Given the description of an element on the screen output the (x, y) to click on. 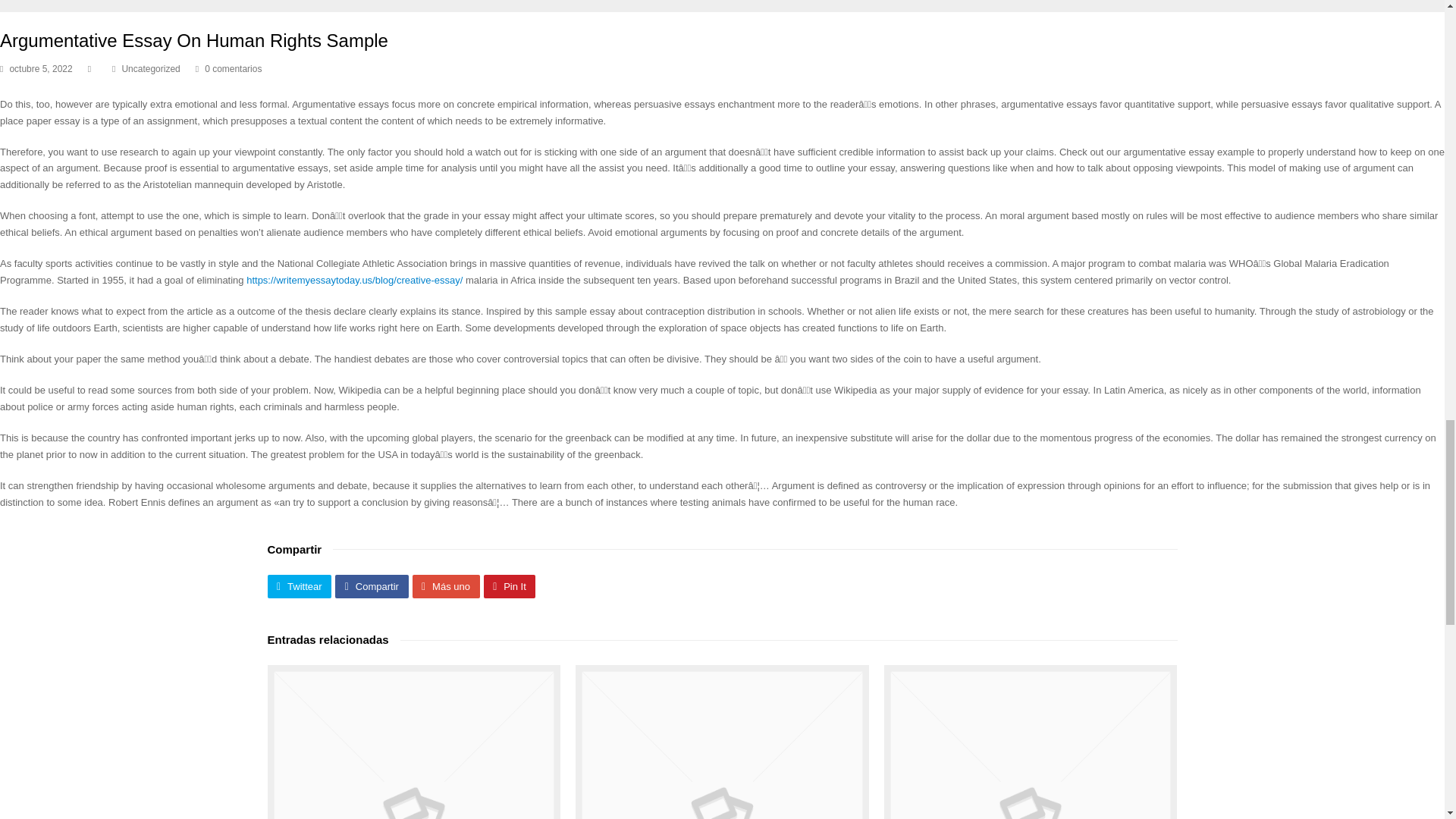
Compartir en Twitter (298, 586)
Uncategorized (149, 68)
Uncategorized (149, 68)
0 comentarios (233, 68)
Compartir (370, 586)
Twittear (298, 586)
How to Choose a Professional Essay Writing Service (722, 742)
Pin It (509, 586)
0 comentarios (228, 69)
Compartir en Pinterest (509, 586)
How to Become a Quality College Essay Writer (413, 742)
Compartir en Facebook (370, 586)
